Given the description of an element on the screen output the (x, y) to click on. 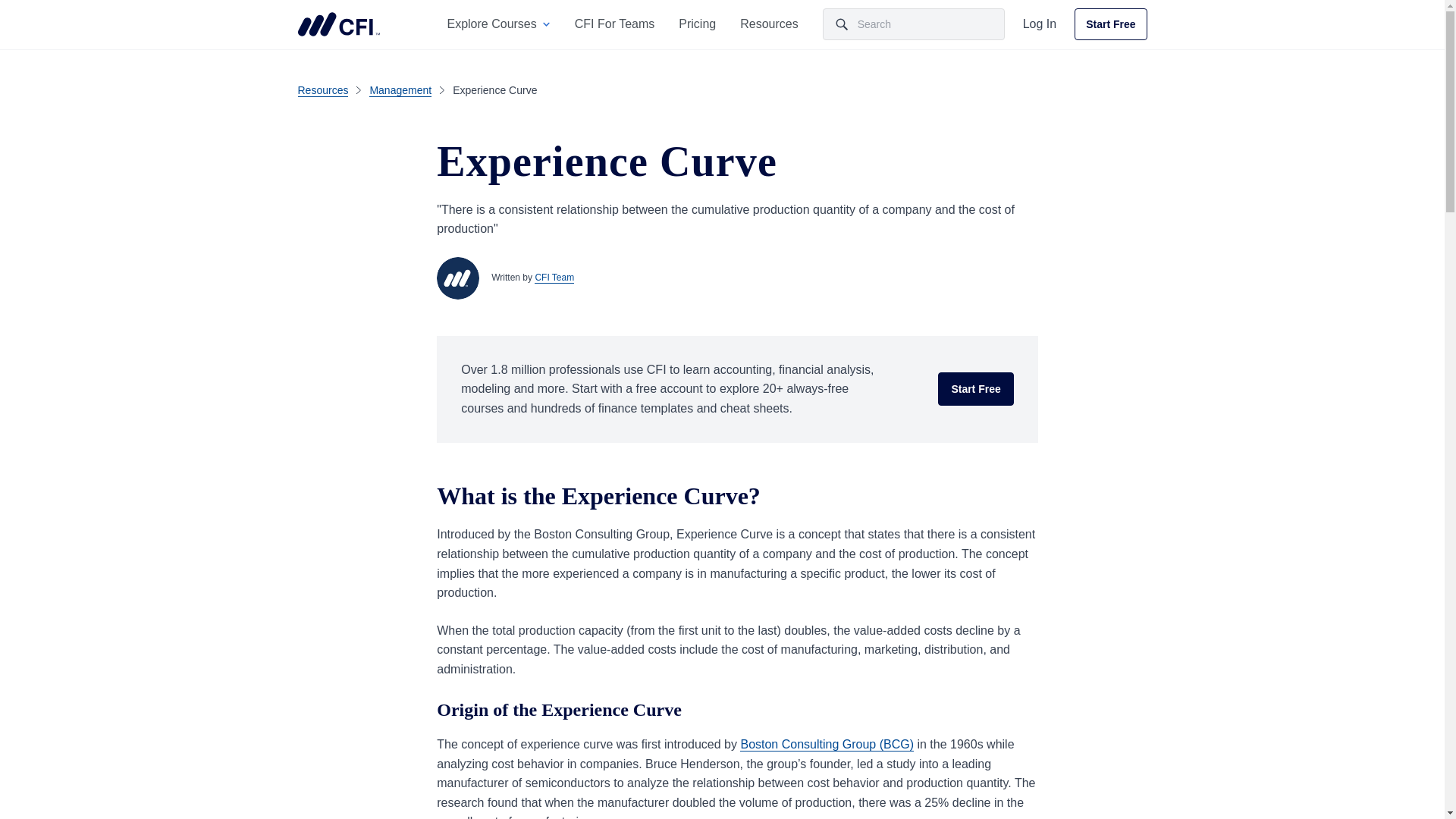
Go to Resources. (322, 89)
Corporate Finance Institute (337, 23)
Go to the Management Resource Type archives. (399, 89)
